Given the description of an element on the screen output the (x, y) to click on. 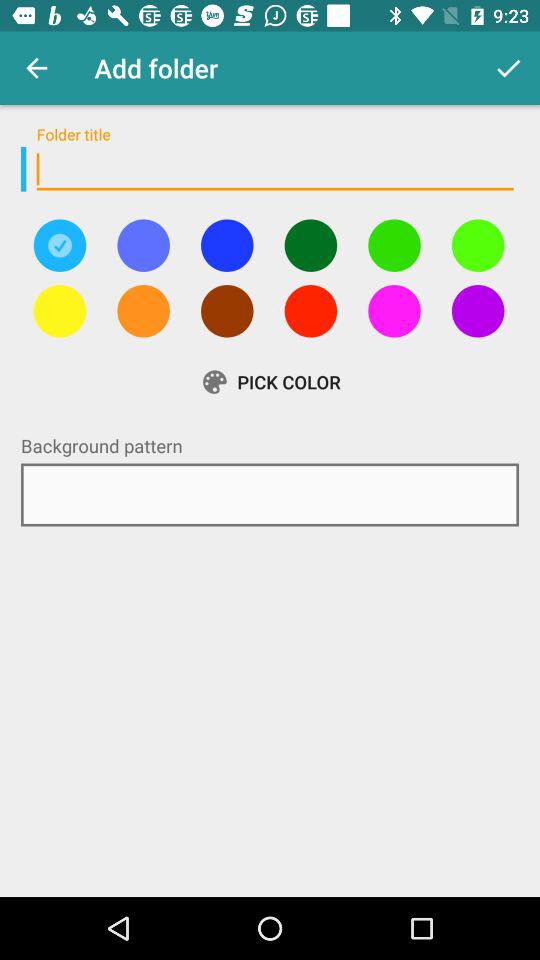
to add orange color (143, 311)
